Given the description of an element on the screen output the (x, y) to click on. 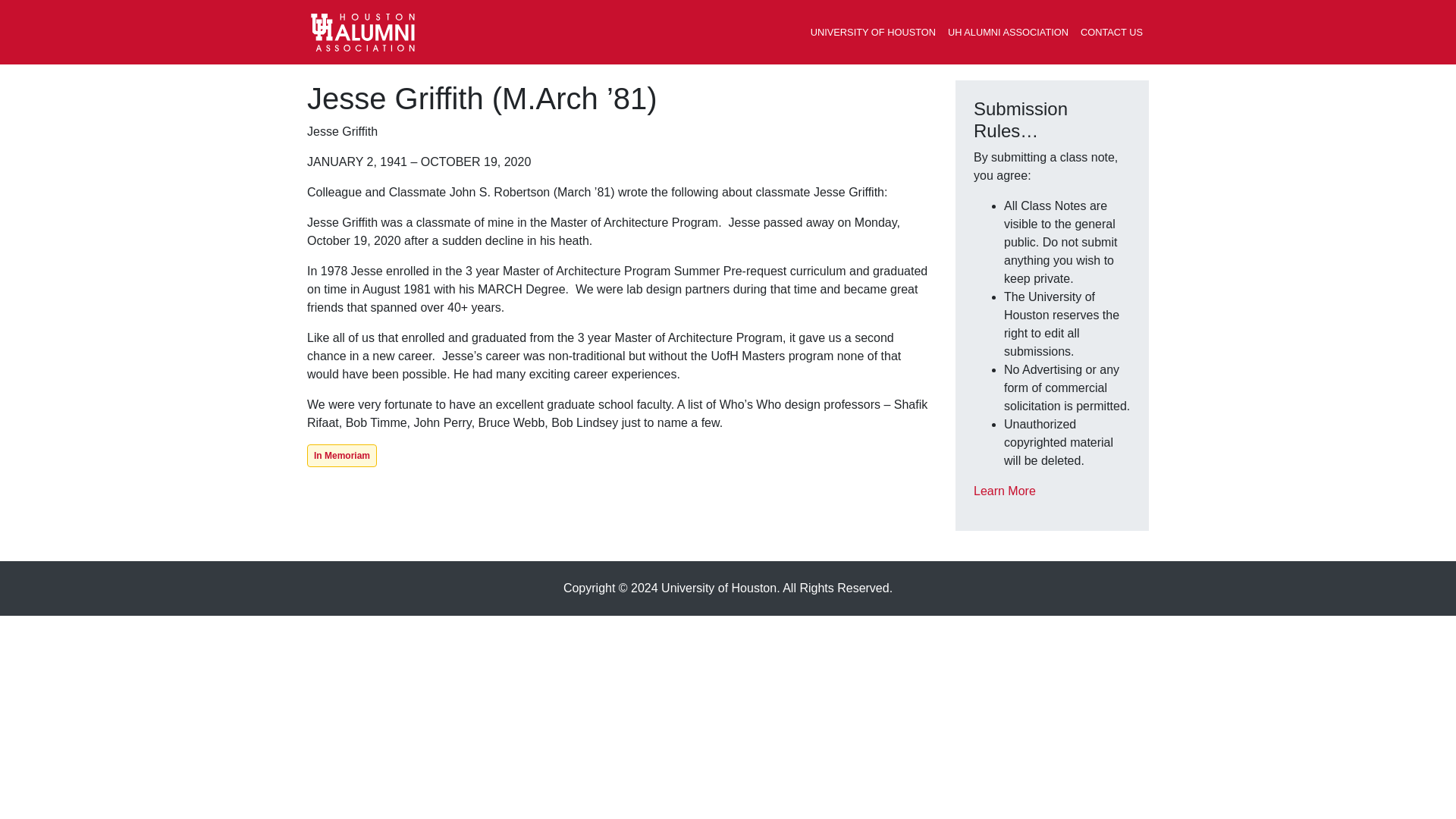
UH ALUMNI ASSOCIATION (1008, 31)
Learn More (1004, 490)
CONTACT US (1111, 31)
UNIVERSITY OF HOUSTON (873, 31)
In Memoriam (342, 455)
